Given the description of an element on the screen output the (x, y) to click on. 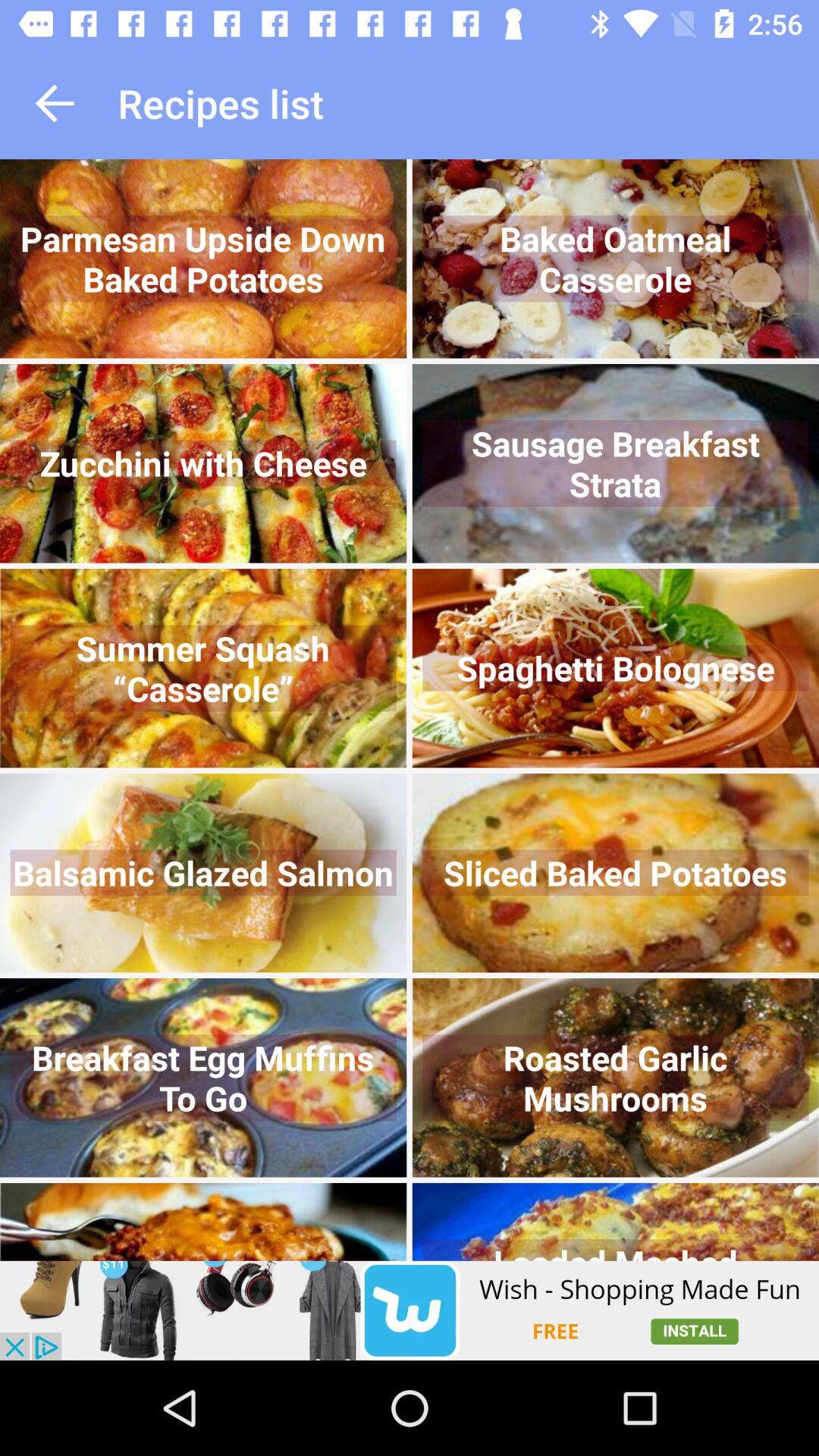
wish shopping made fun app install now (409, 1310)
